Given the description of an element on the screen output the (x, y) to click on. 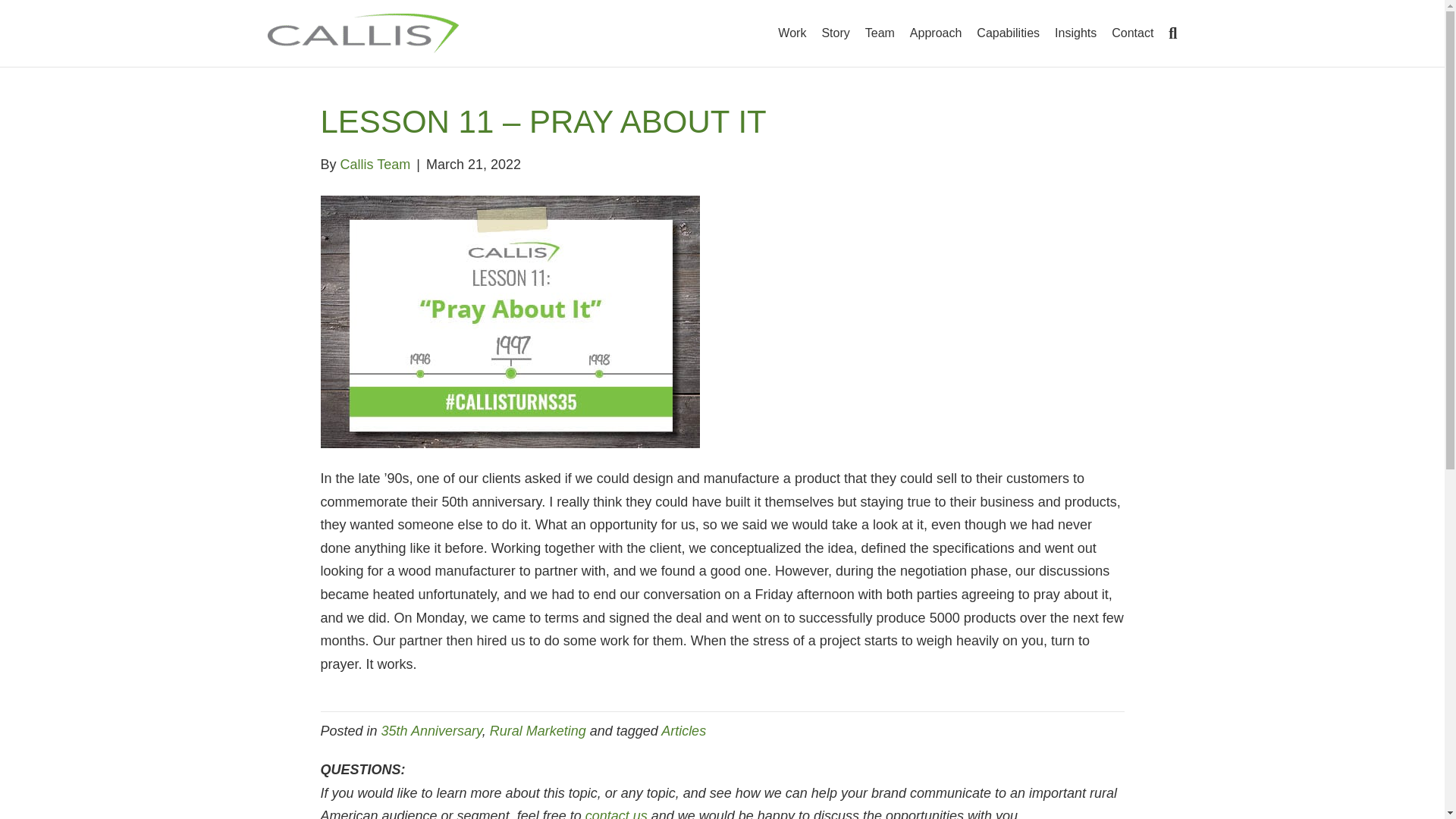
Contact (1131, 33)
Articles (683, 730)
Approach (935, 33)
35th Anniversary (431, 730)
Rural Marketing (537, 730)
Callis Team (375, 164)
Work (791, 33)
Story (835, 33)
Team (879, 33)
Capabilities (1007, 33)
Insights (1074, 33)
contact us (616, 813)
